Given the description of an element on the screen output the (x, y) to click on. 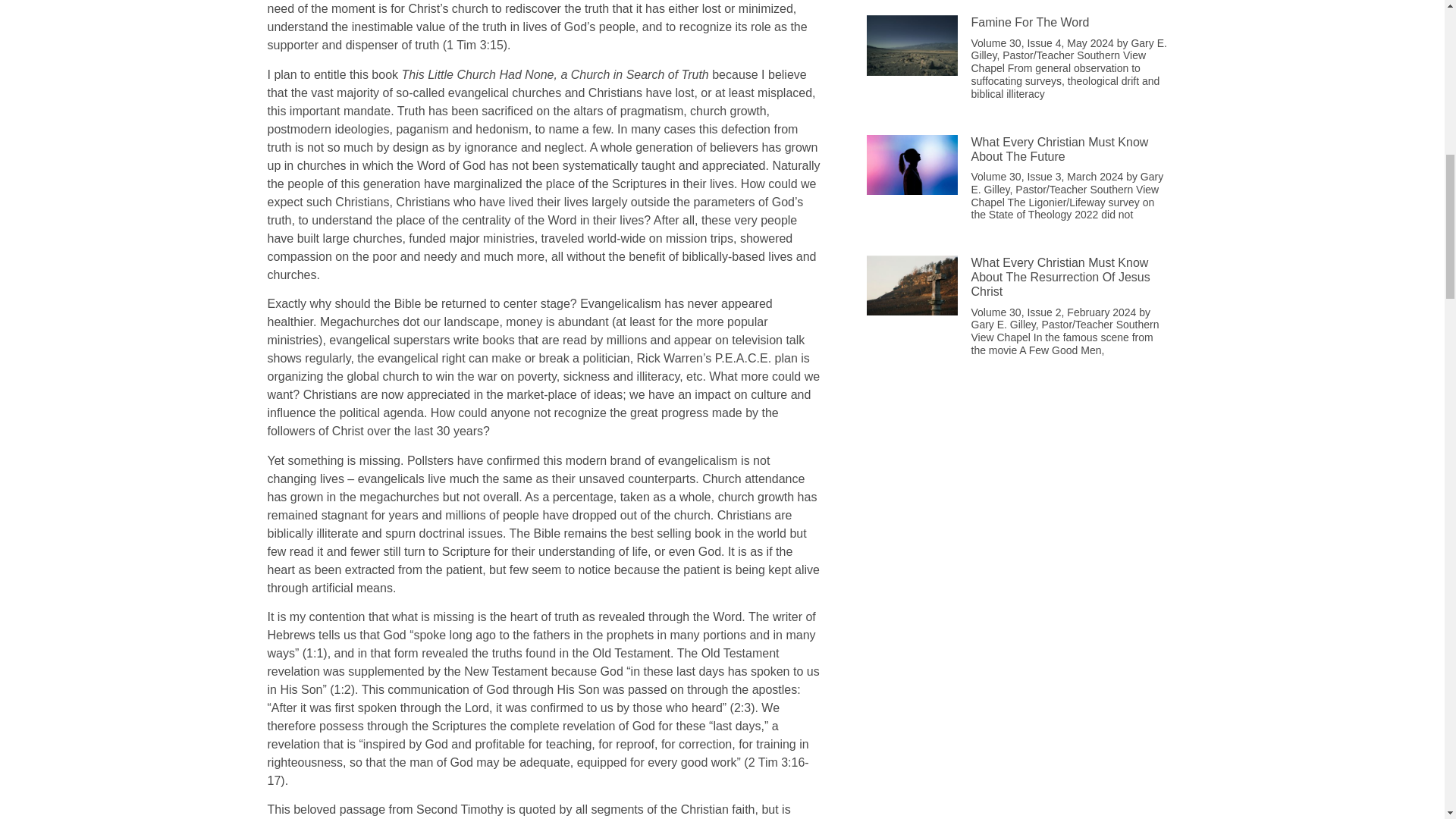
What Every Christian Must Know About The Future (1059, 148)
Famine For The Word (1030, 21)
